Given the description of an element on the screen output the (x, y) to click on. 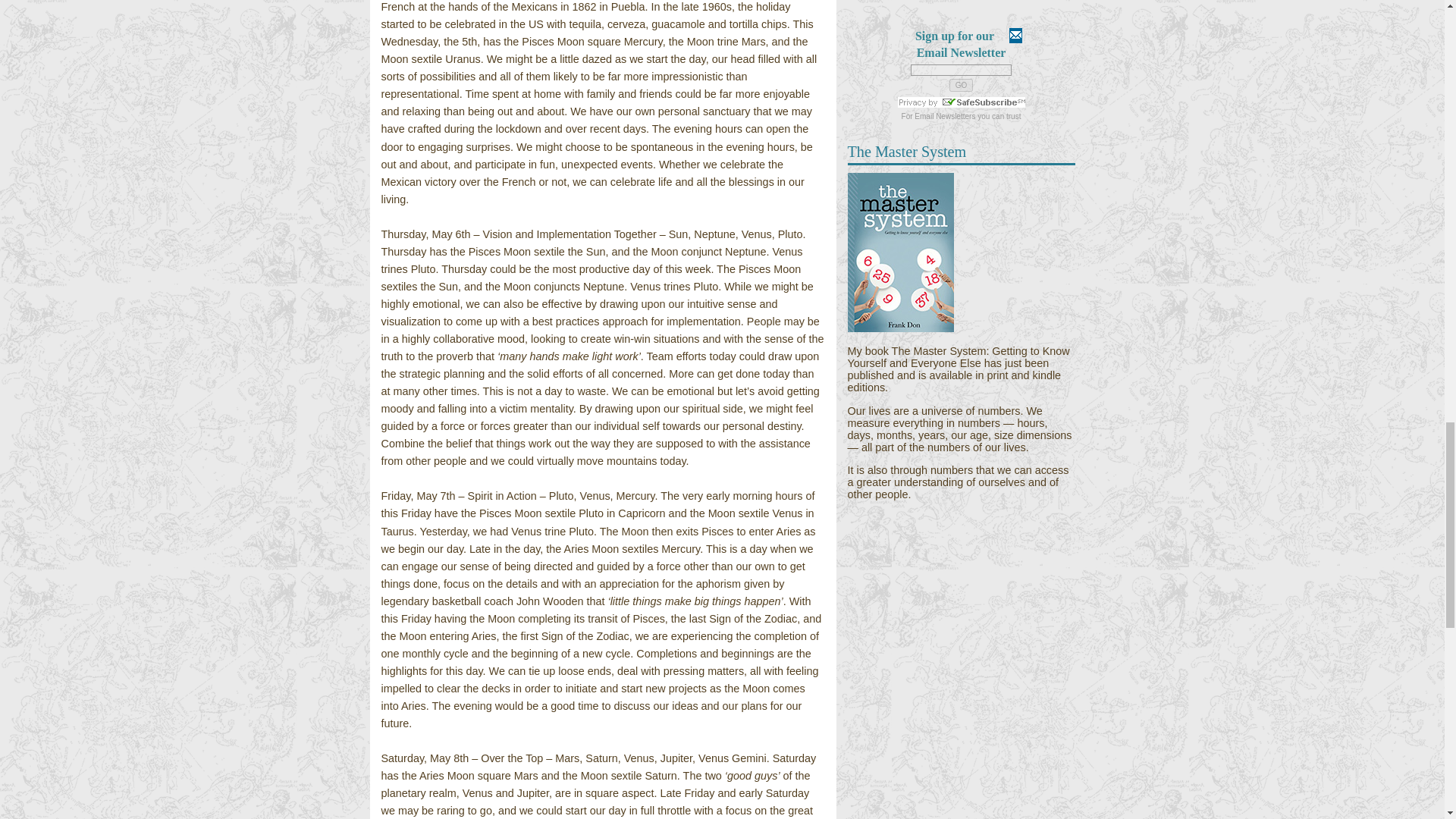
GO (961, 84)
The Master System (900, 328)
